Given the description of an element on the screen output the (x, y) to click on. 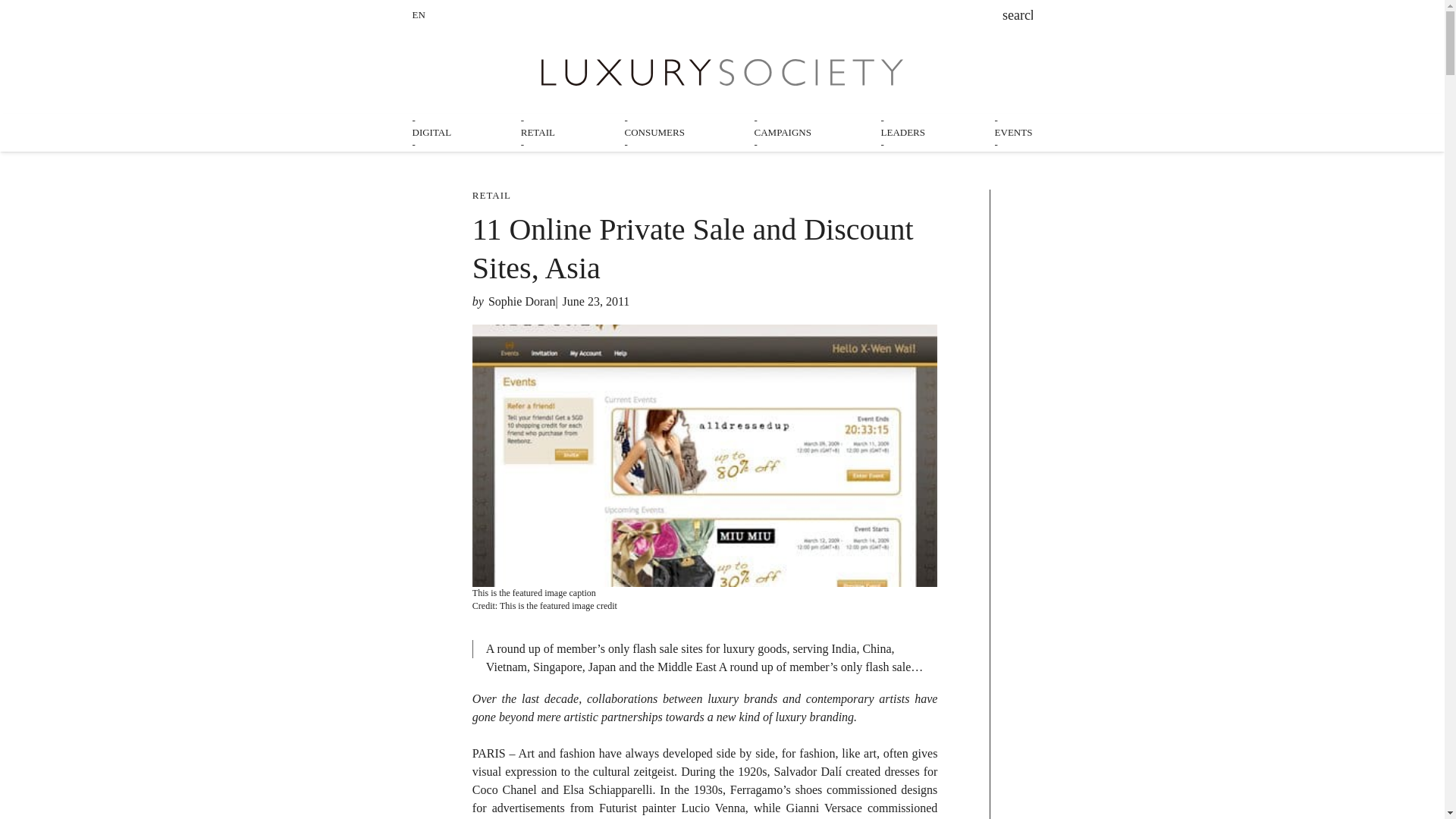
search (1017, 16)
CONSUMERS (654, 132)
EVENTS (1013, 132)
DIGITAL (431, 132)
Sophie Doran (520, 300)
EN (418, 14)
LEADERS (903, 132)
RETAIL (537, 132)
CAMPAIGNS (782, 132)
